Given the description of an element on the screen output the (x, y) to click on. 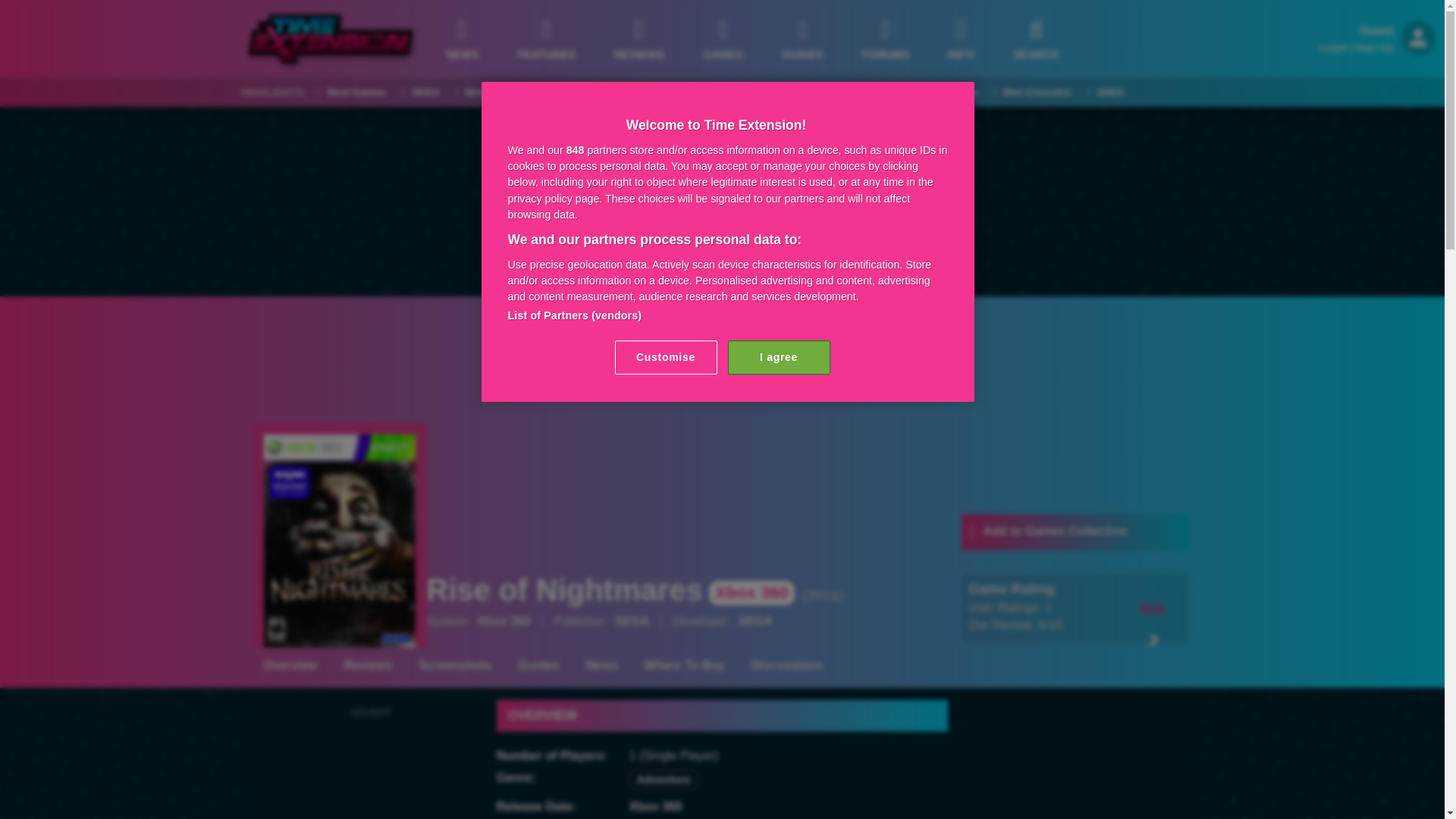
Emulation Consoles (924, 91)
Sign Up (1374, 47)
Hardware Reviews (710, 91)
Time Extension (330, 38)
PlayStation (556, 91)
SEGA (420, 91)
Time Extension (330, 38)
Book Reviews (814, 91)
Mini Consoles (1031, 91)
Nintendo (482, 91)
